Given the description of an element on the screen output the (x, y) to click on. 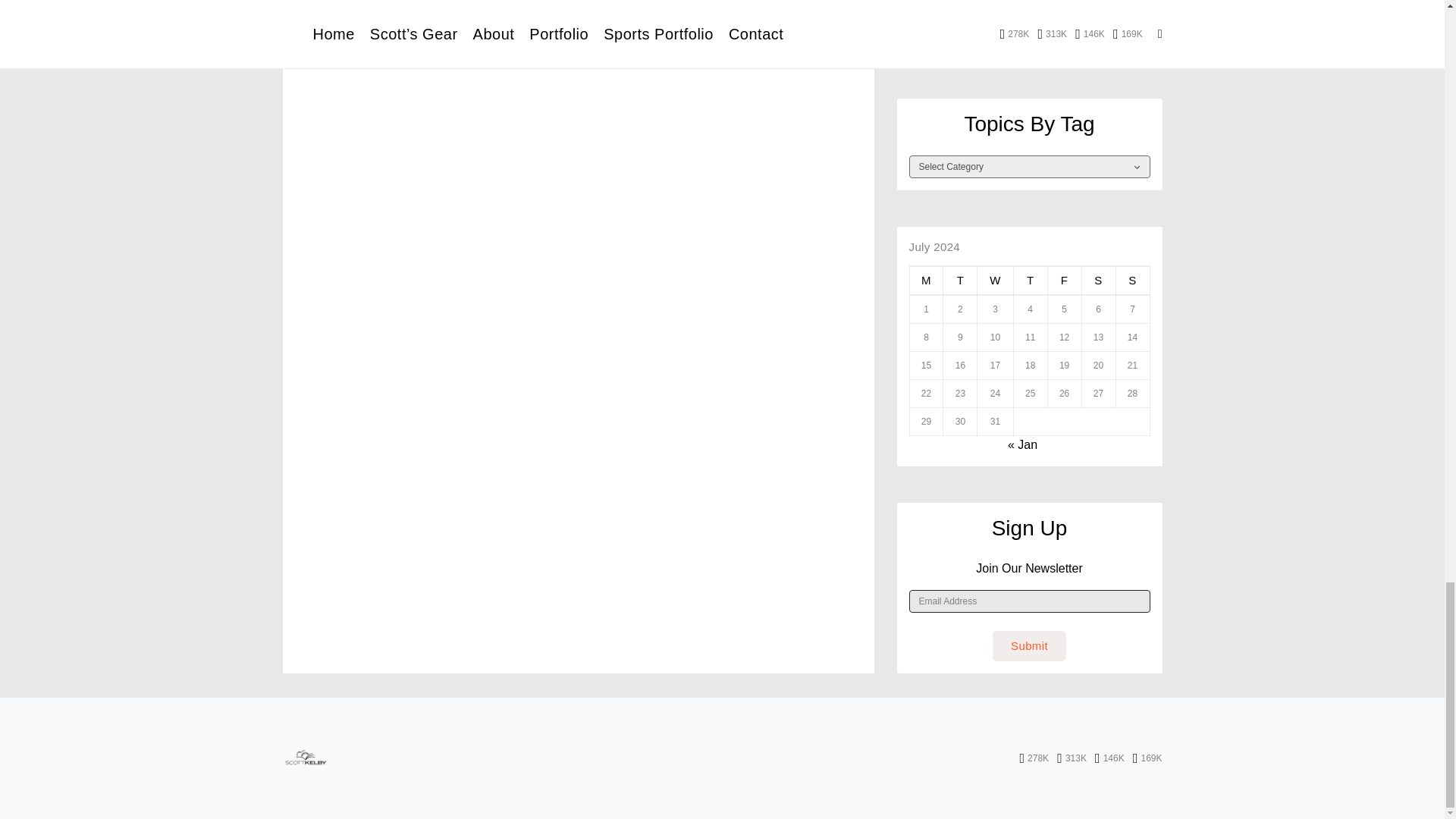
Sunday (1132, 280)
Tuesday (959, 280)
Friday (1063, 280)
Thursday (1029, 280)
Saturday (1098, 280)
Monday (925, 280)
Wednesday (994, 280)
Submit (1028, 645)
